Given the description of an element on the screen output the (x, y) to click on. 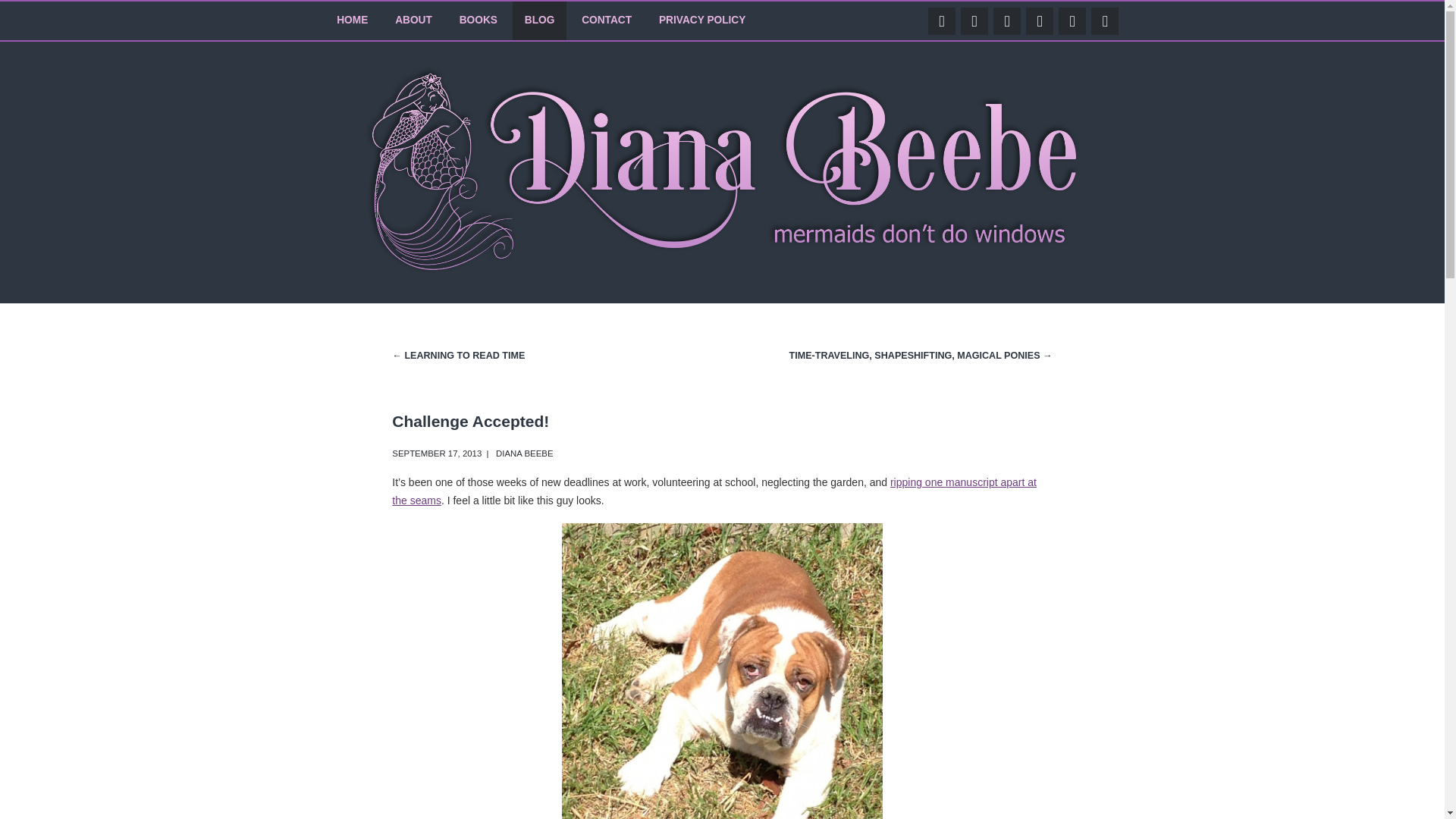
SEPTEMBER 17, 2013 (436, 452)
BOOKS (477, 20)
Challenge Accepted! by Diana Beebe (436, 452)
DIANA BEEBE (524, 452)
ripping one manuscript apart at the seams (713, 490)
BLOG (539, 20)
View all posts by Diana Beebe (524, 452)
ABOUT (413, 20)
CONTACT (606, 20)
Author Diana Beebe - Mermaids don't do windows (722, 269)
HOME (352, 20)
PRIVACY POLICY (701, 20)
No BBT, No Story. No BBT, No Story. Repeat Until it Sinks In (713, 490)
